Given the description of an element on the screen output the (x, y) to click on. 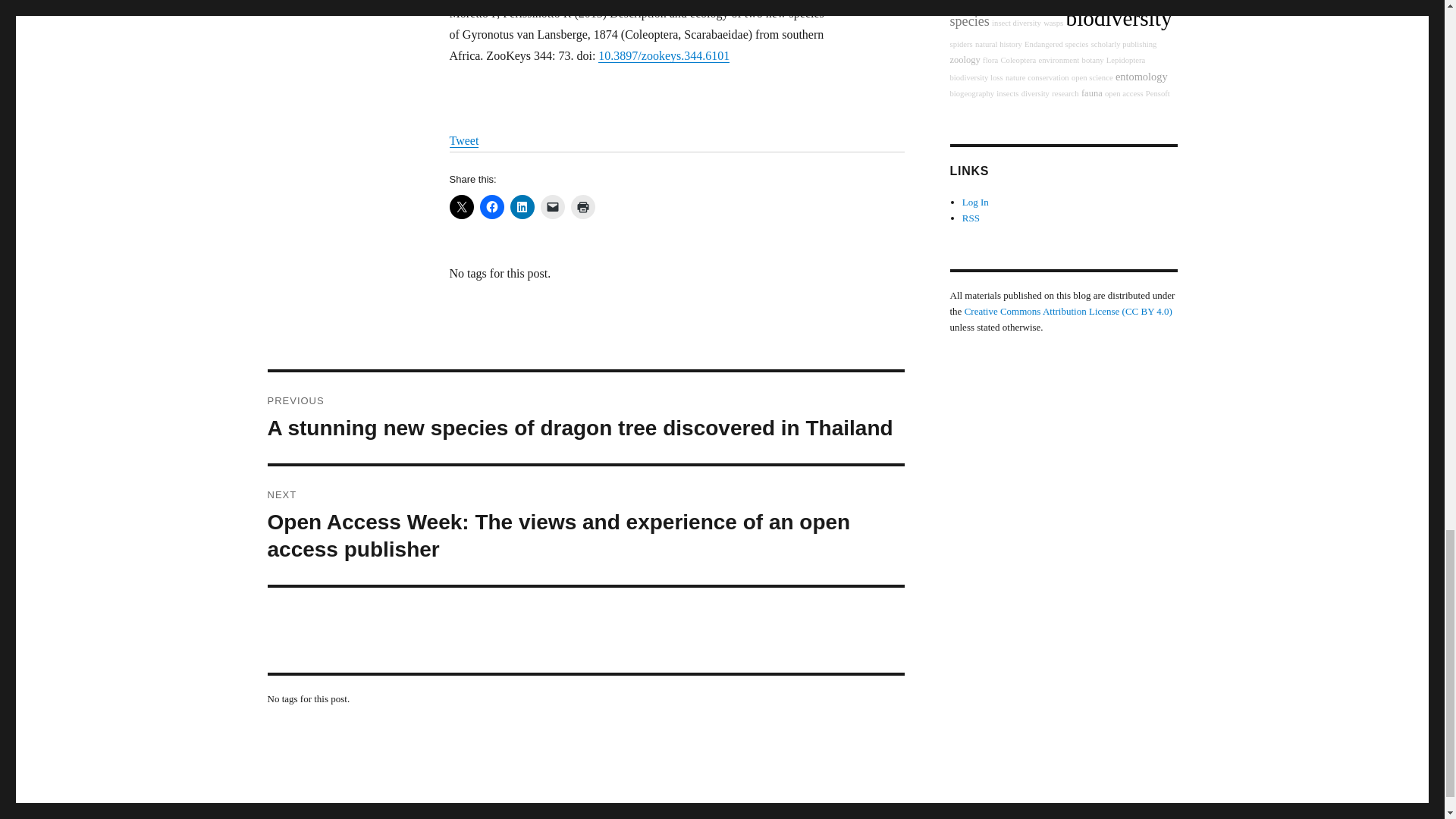
Click to print (582, 206)
Click to email a link to a friend (552, 206)
Tweet (463, 140)
Click to share on LinkedIn (521, 206)
Click to share on Facebook (491, 206)
Click to share on X (460, 206)
